Given the description of an element on the screen output the (x, y) to click on. 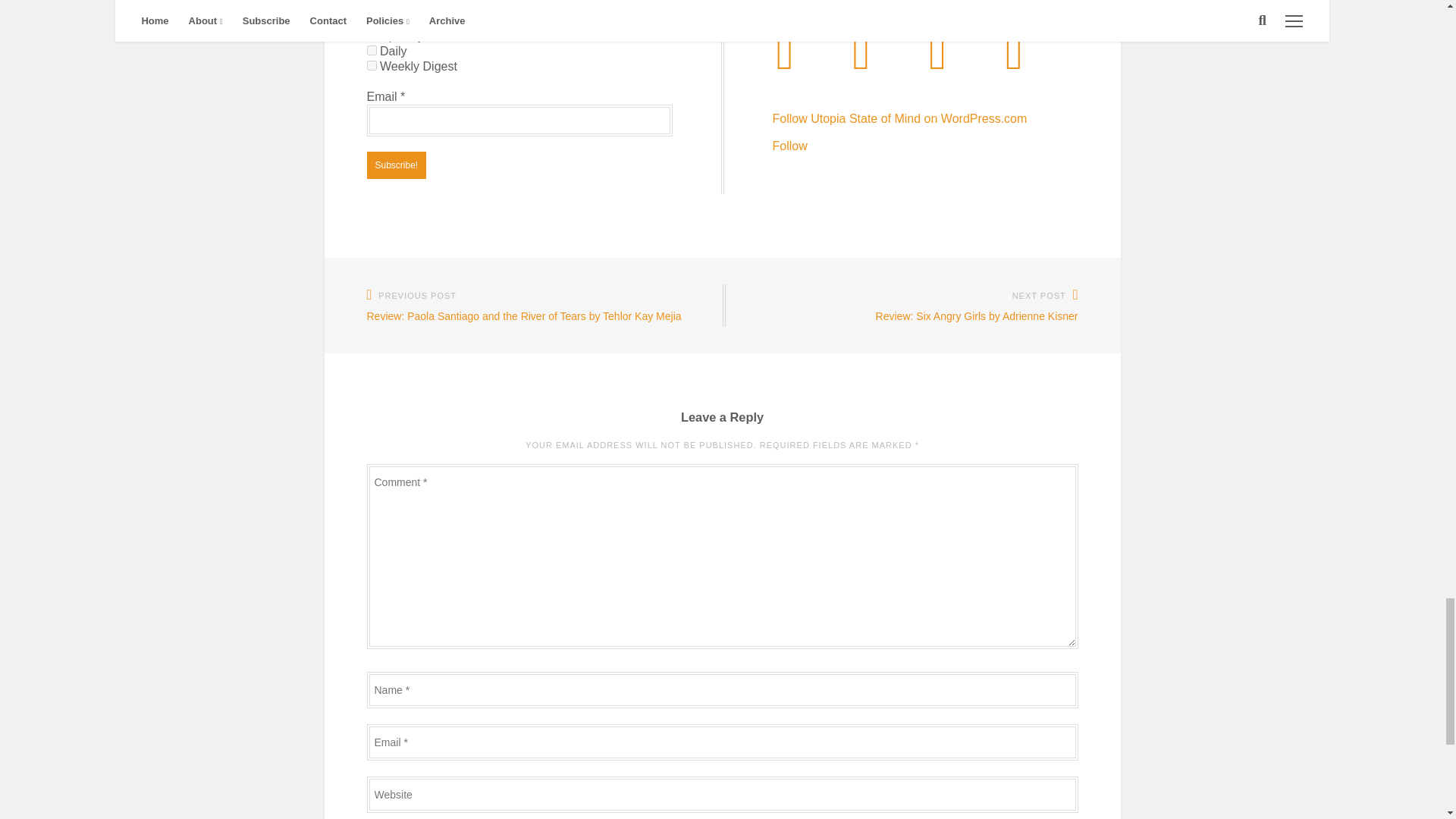
Subscribe! (396, 165)
3 (371, 65)
Email (519, 120)
4 (371, 50)
Subscribe! (396, 165)
